Given the description of an element on the screen output the (x, y) to click on. 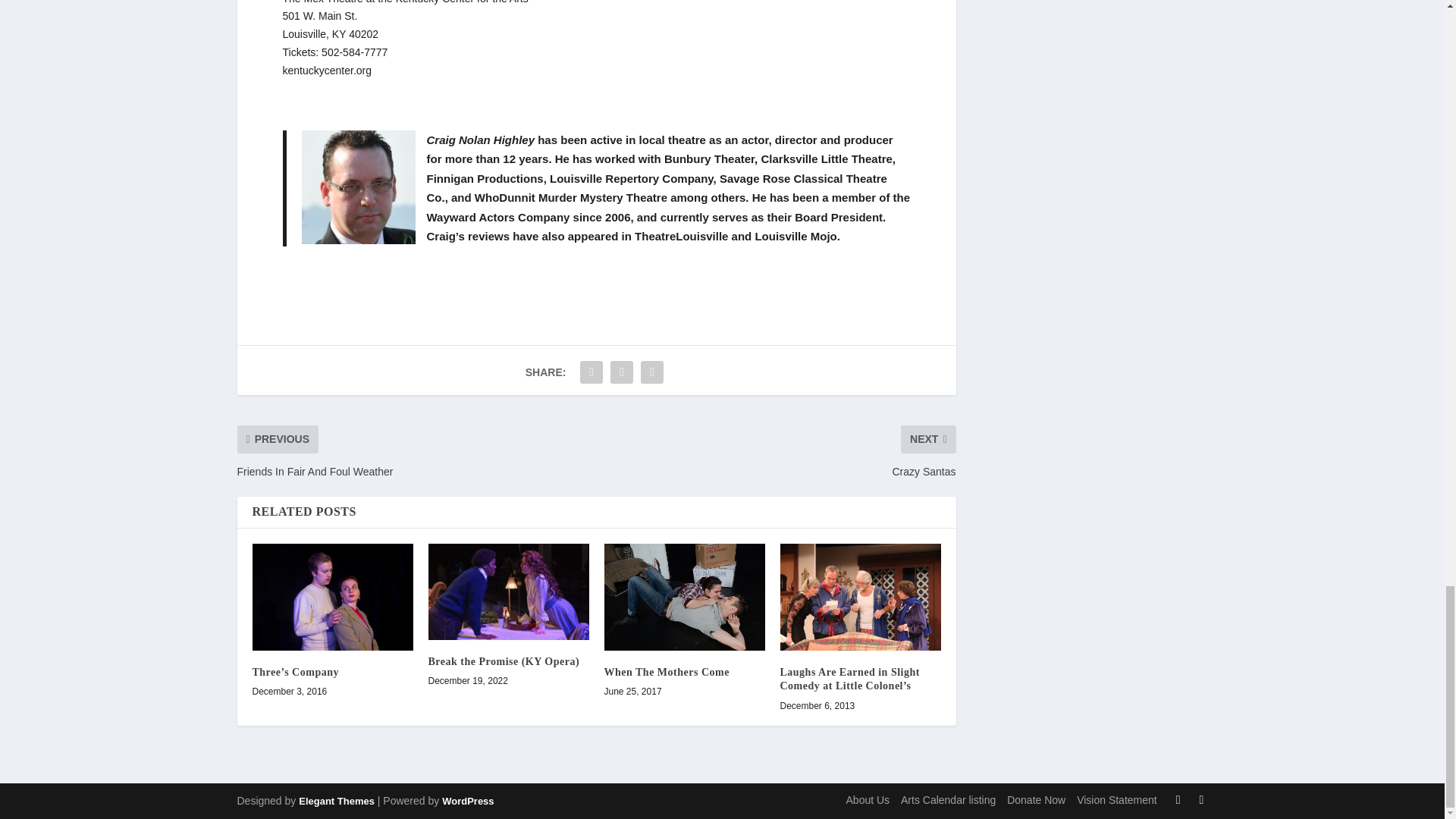
When The Mothers Come (684, 596)
Share "Frightened Of Being Alive" via Twitter (622, 372)
Premium WordPress Themes (336, 800)
Share "Frightened Of Being Alive" via Facebook (591, 372)
Share "Frightened Of Being Alive" via Email (651, 372)
